Given the description of an element on the screen output the (x, y) to click on. 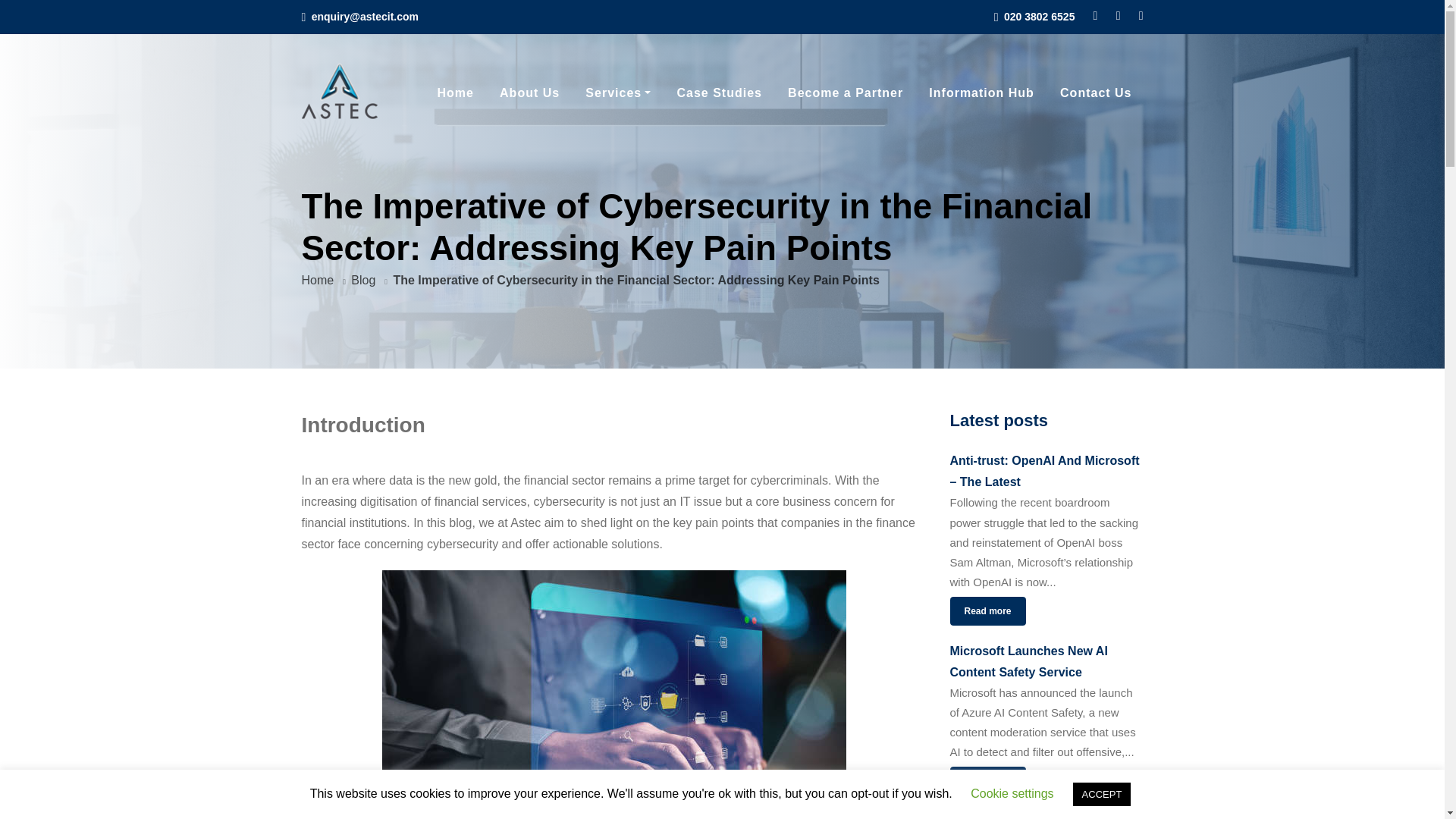
Case Studies (719, 92)
Read more (987, 780)
Blog (362, 279)
Contact Us (1095, 92)
Read more (987, 611)
About Us (528, 92)
Information Hub (981, 92)
Safety Considerations Around ChatGPT Image Uploads (1045, 814)
Home (317, 279)
Microsoft Launches New AI Content Safety Service (1045, 661)
Become a Partner (845, 92)
Home (454, 92)
020 3802 6525 (1039, 16)
Services (617, 92)
